Given the description of an element on the screen output the (x, y) to click on. 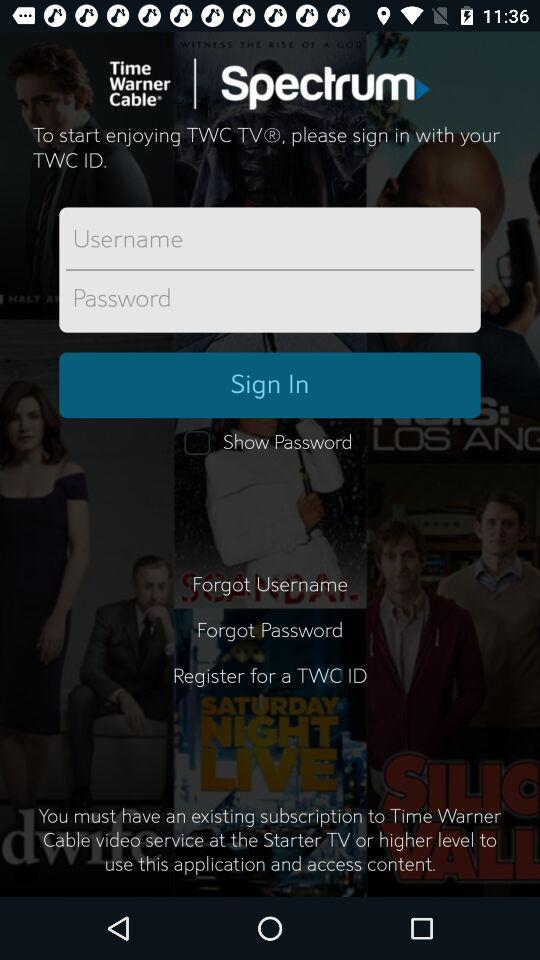
press forgot username (270, 584)
